Given the description of an element on the screen output the (x, y) to click on. 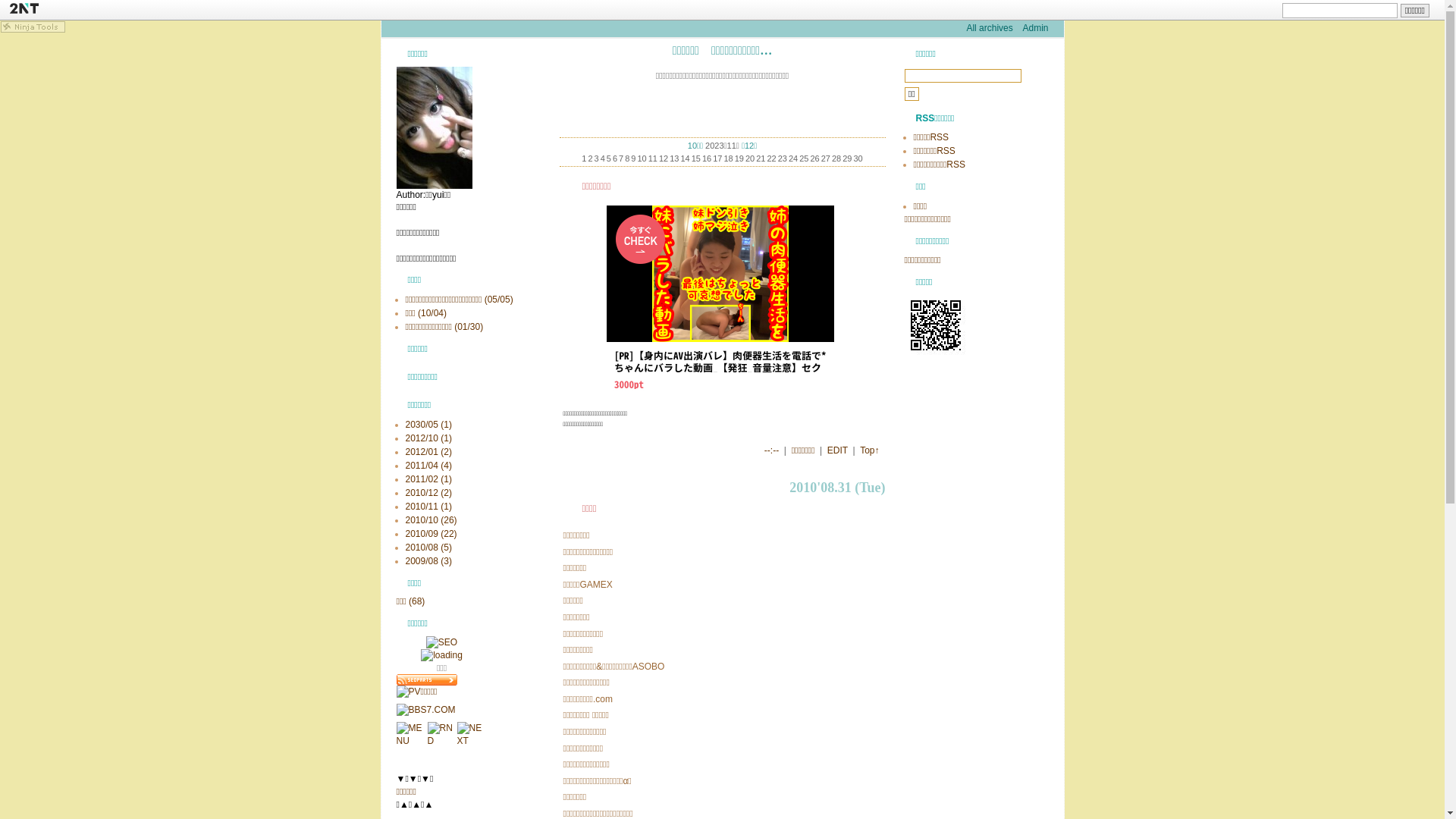
2010/10 (26) Element type: text (430, 519)
EDIT Element type: text (837, 450)
2010/12 (2) Element type: text (427, 492)
2030/05 (1) Element type: text (427, 424)
All archives Element type: text (989, 27)
2011/04 (4) Element type: text (427, 465)
Admin Element type: text (1035, 27)
2010/08 (5) Element type: text (427, 547)
--:-- Element type: text (771, 450)
2009/08 (3) Element type: text (427, 560)
2012/10 (1) Element type: text (427, 438)
2010/11 (1) Element type: text (427, 506)
2011/02 (1) Element type: text (427, 478)
2010/09 (22) Element type: text (430, 533)
2012/01 (2) Element type: text (427, 451)
